Given the description of an element on the screen output the (x, y) to click on. 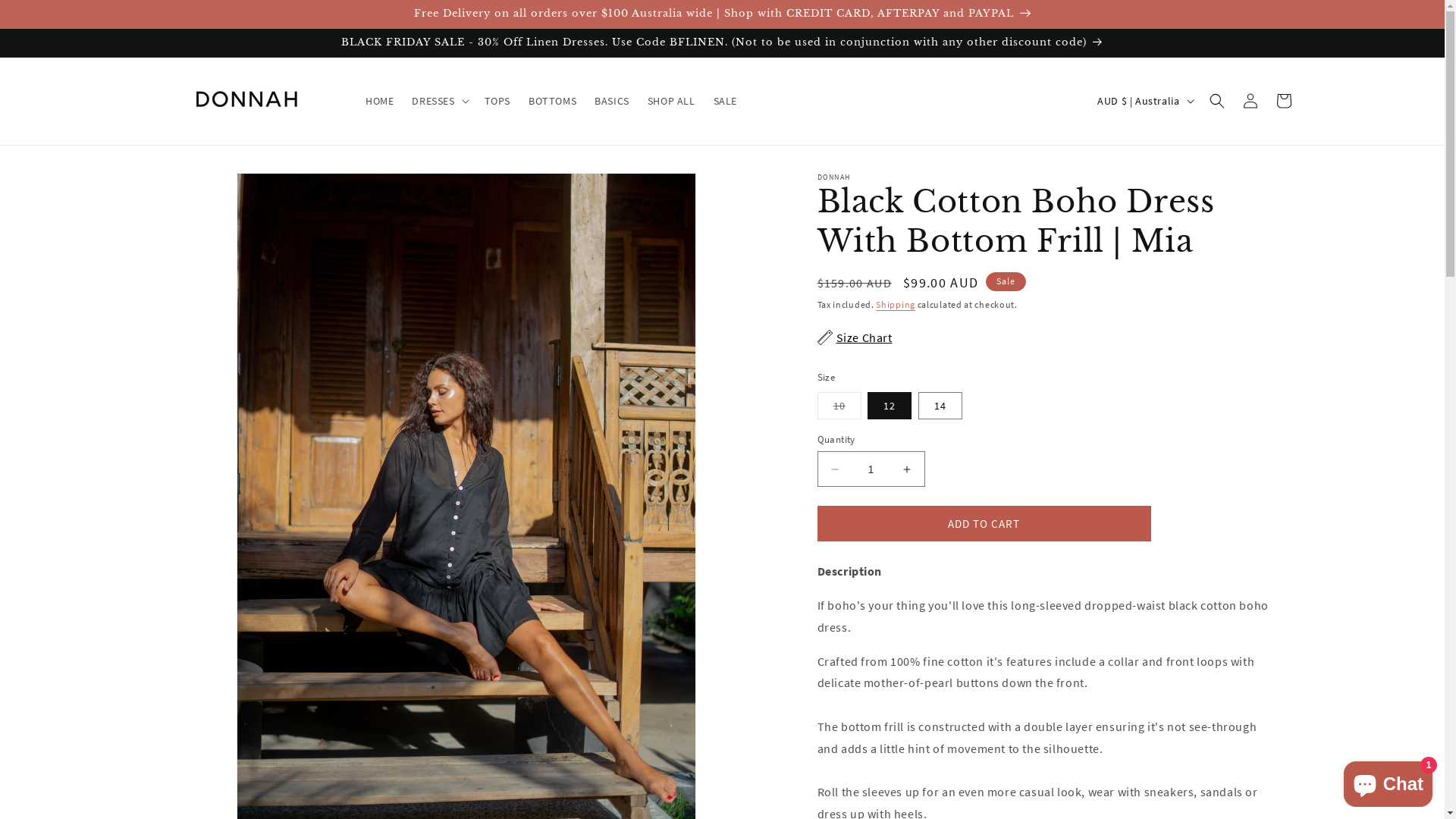
Cart Element type: text (1282, 100)
HOME Element type: text (379, 100)
Shipping Element type: text (895, 304)
Shopify online store chat Element type: hover (1388, 780)
TOPS Element type: text (497, 100)
SHOP ALL Element type: text (671, 100)
Skip to product information Element type: text (199, 189)
BASICS Element type: text (611, 100)
ADD TO CART Element type: text (984, 523)
AUD $ | Australia Element type: text (1143, 100)
SALE Element type: text (725, 100)
Log in Element type: text (1249, 100)
BOTTOMS Element type: text (552, 100)
